Given the description of an element on the screen output the (x, y) to click on. 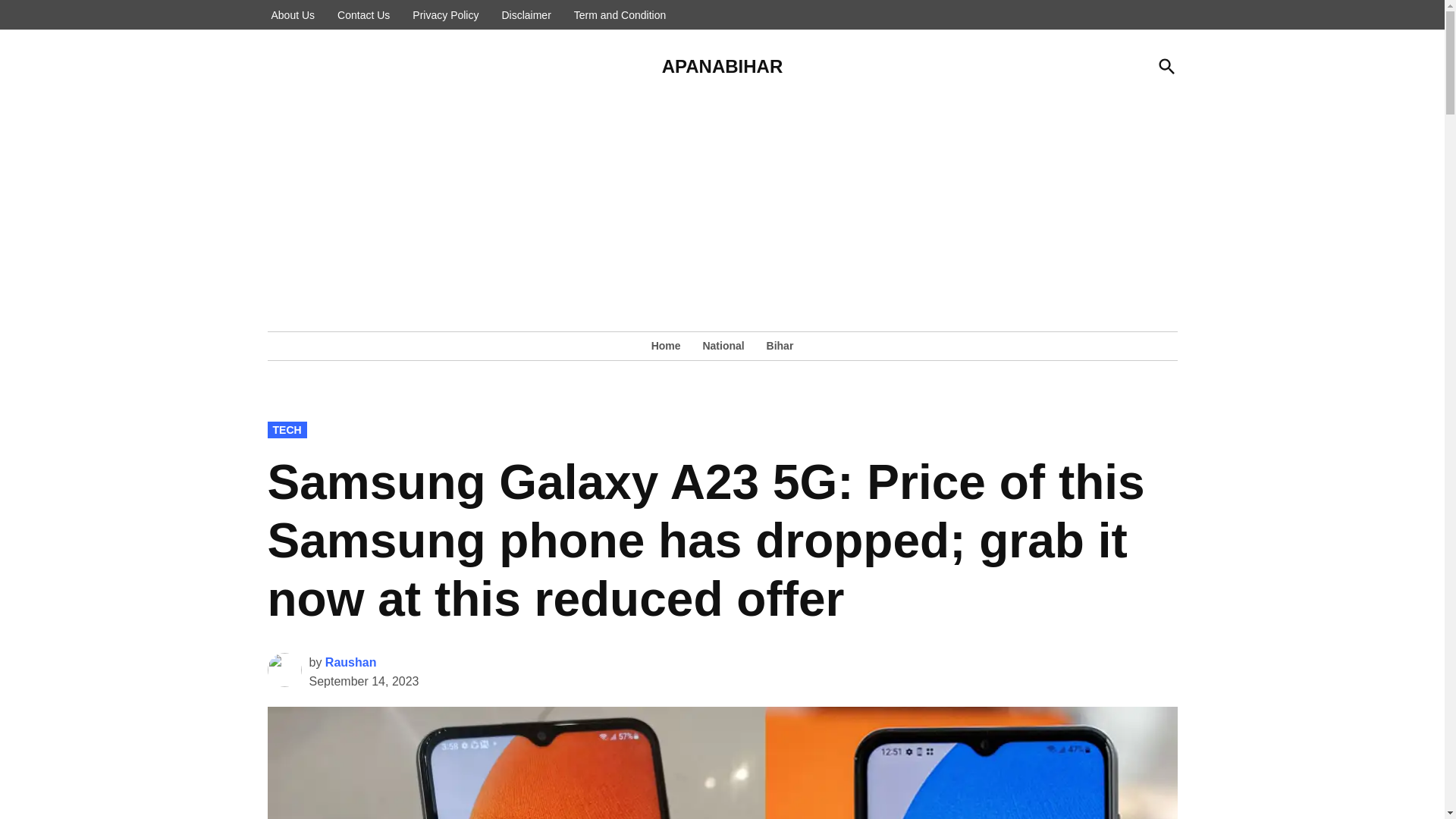
National (722, 345)
TECH (285, 429)
Term and Condition (619, 14)
Bihar (775, 345)
Contact Us (363, 14)
APANABIHAR (722, 66)
About Us (292, 14)
Raushan (350, 662)
Open Search (1166, 66)
Privacy Policy (445, 14)
Home (669, 345)
Disclaimer (525, 14)
